Given the description of an element on the screen output the (x, y) to click on. 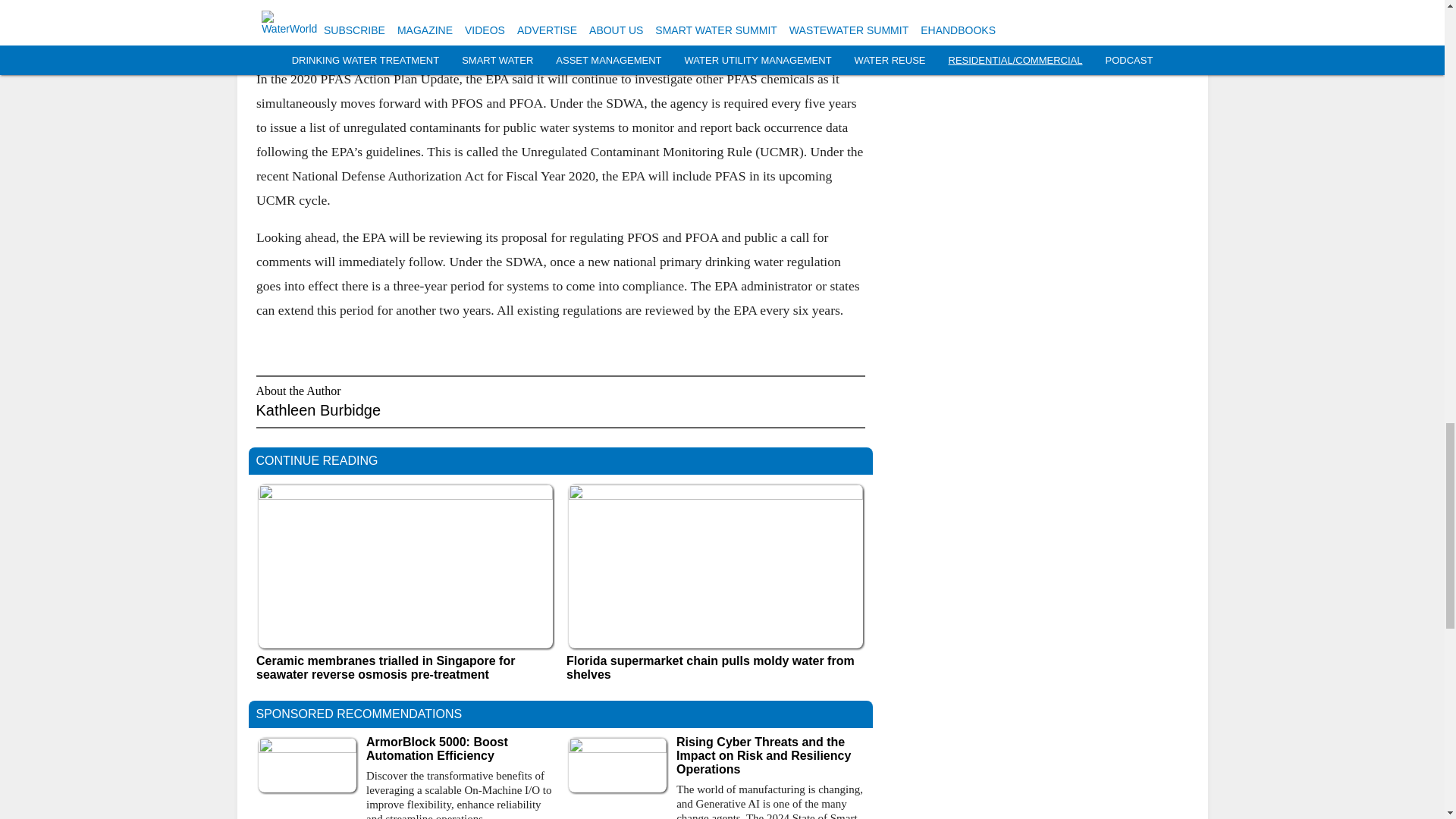
ArmorBlock 5000: Boost Automation Efficiency (459, 748)
Florida supermarket chain pulls moldy water from shelves (715, 667)
